Given the description of an element on the screen output the (x, y) to click on. 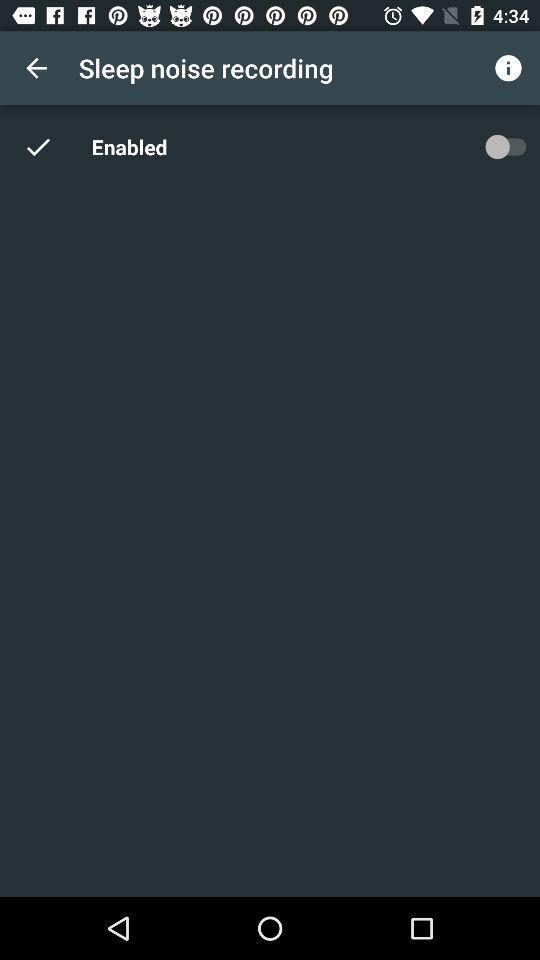
click the enabled (132, 146)
